Given the description of an element on the screen output the (x, y) to click on. 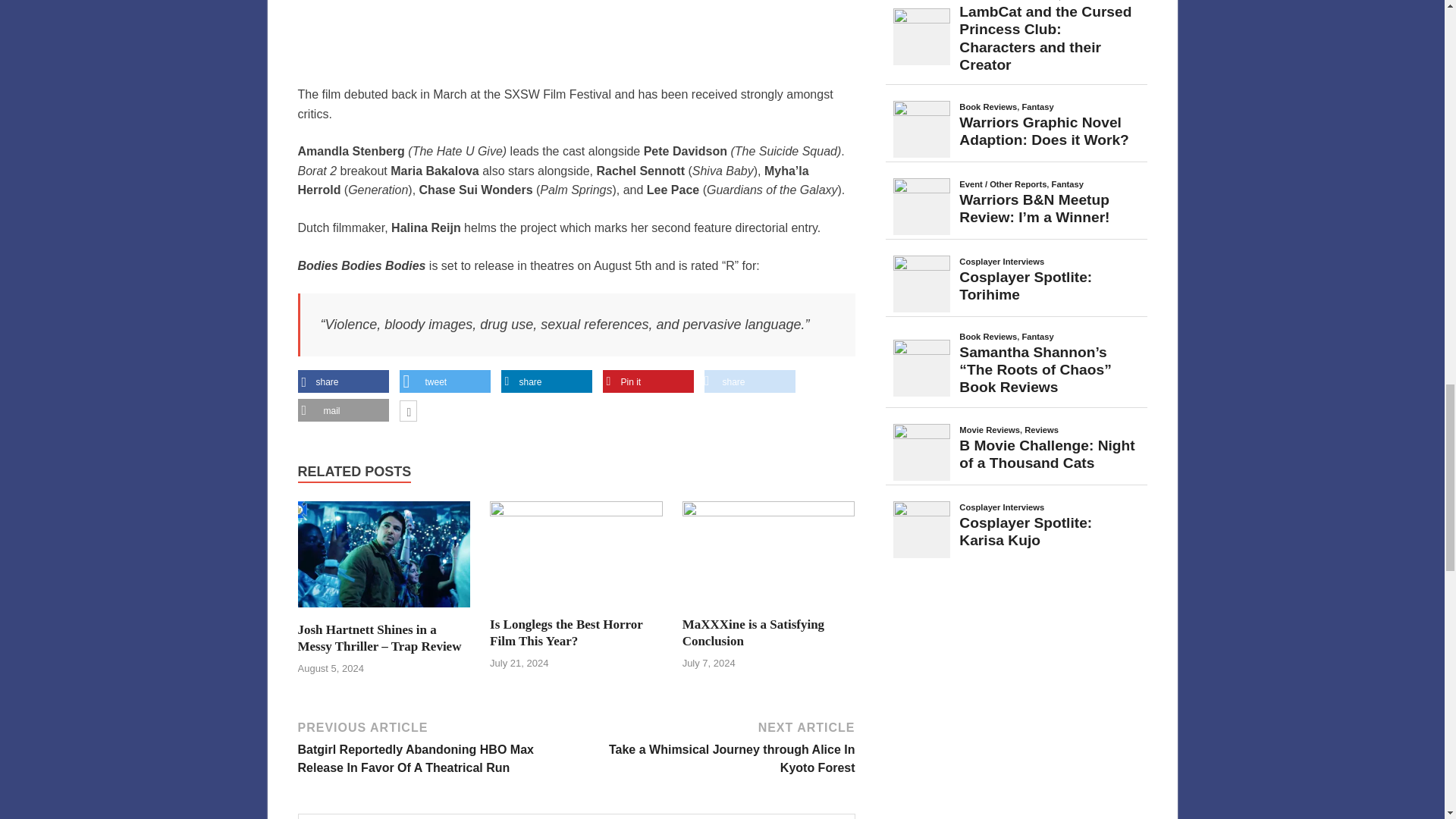
YouTube player (575, 33)
Share on LinkedIn (545, 381)
Is Longlegs the Best Horror Film This Year? (565, 632)
Share on Twitter (443, 381)
Pin it on Pinterest (647, 381)
MaXXXine is a Satisfying Conclusion (753, 632)
Share on Reddit (748, 381)
Is Longlegs the Best Horror Film This Year? (575, 512)
Share on Facebook (342, 381)
Send by email (342, 410)
